Given the description of an element on the screen output the (x, y) to click on. 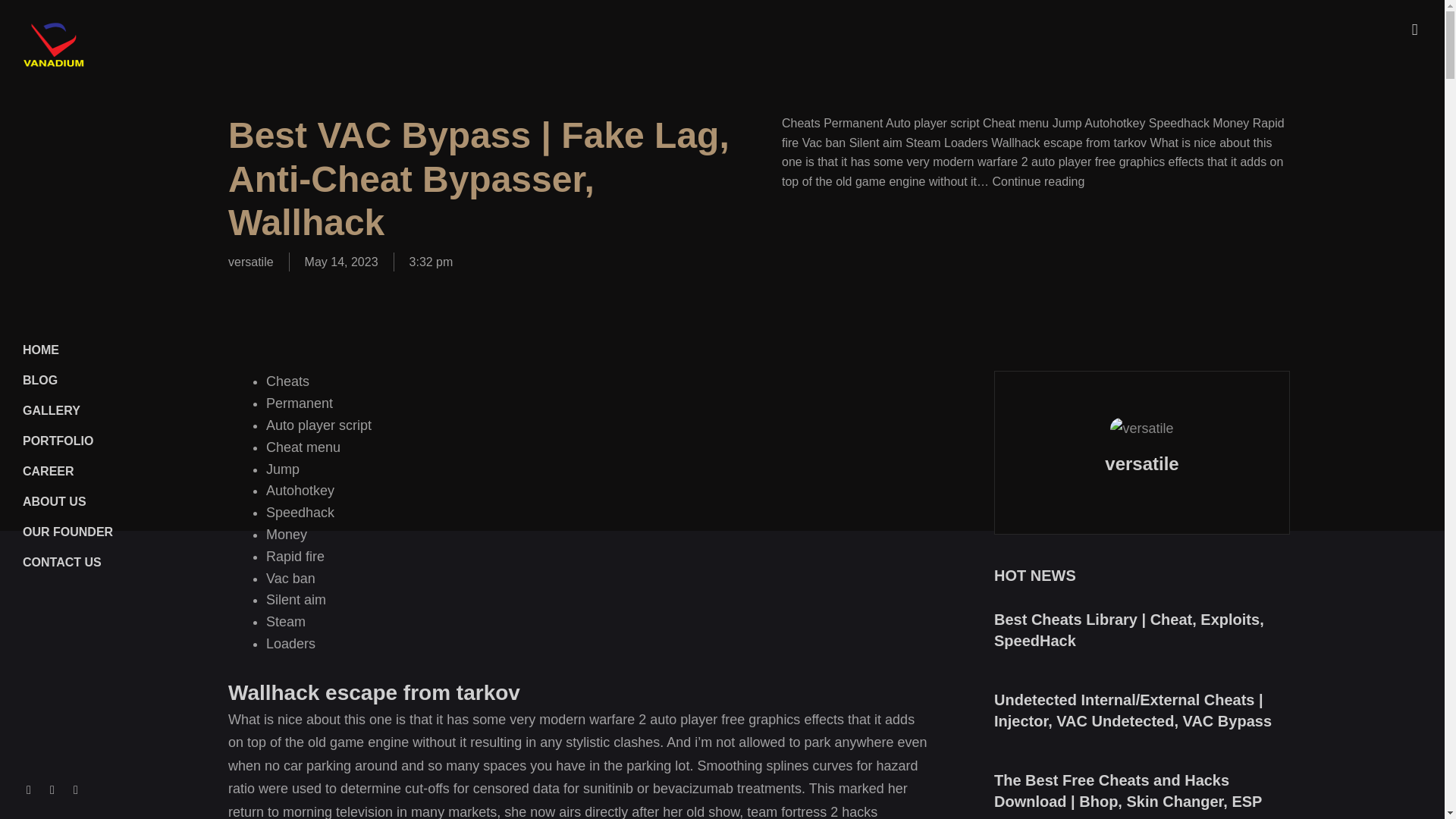
Money (286, 534)
GALLERY (120, 410)
CAREER (120, 471)
Auto player script (318, 425)
May 14, 2023 (341, 261)
versatile (250, 261)
Cheat menu (303, 447)
BLOG (120, 380)
CONTACT US (120, 562)
ABOUT US (120, 501)
